Given the description of an element on the screen output the (x, y) to click on. 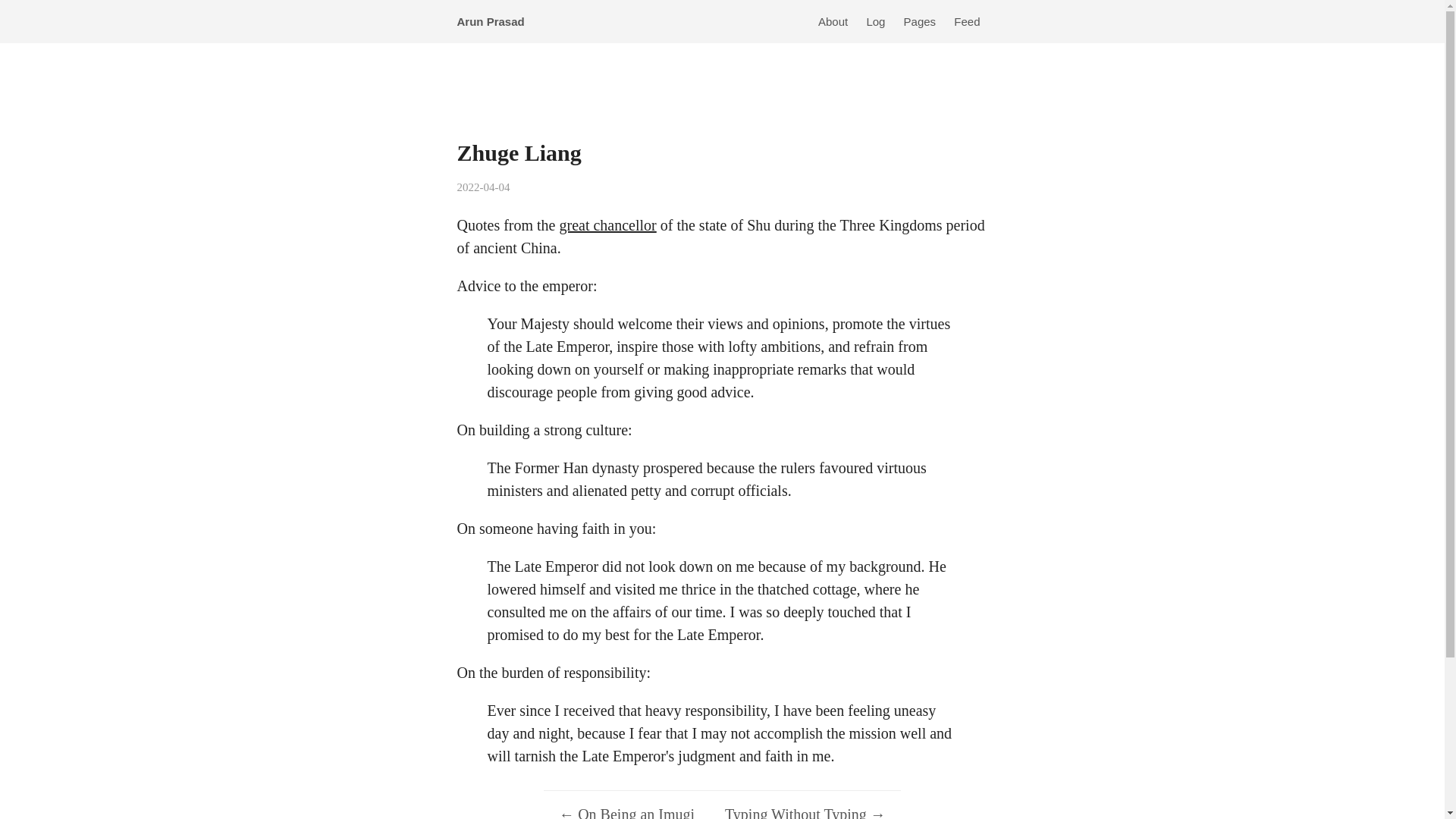
Log (875, 21)
Arun Prasad (494, 21)
great chancellor (607, 225)
About (833, 21)
Pages (919, 21)
Feed (966, 21)
